Given the description of an element on the screen output the (x, y) to click on. 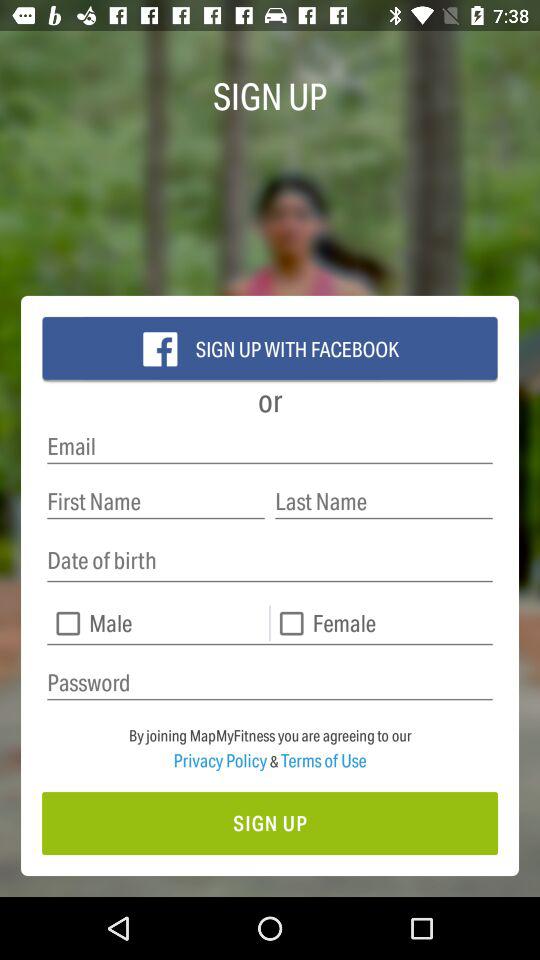
first name sign up (156, 501)
